Given the description of an element on the screen output the (x, y) to click on. 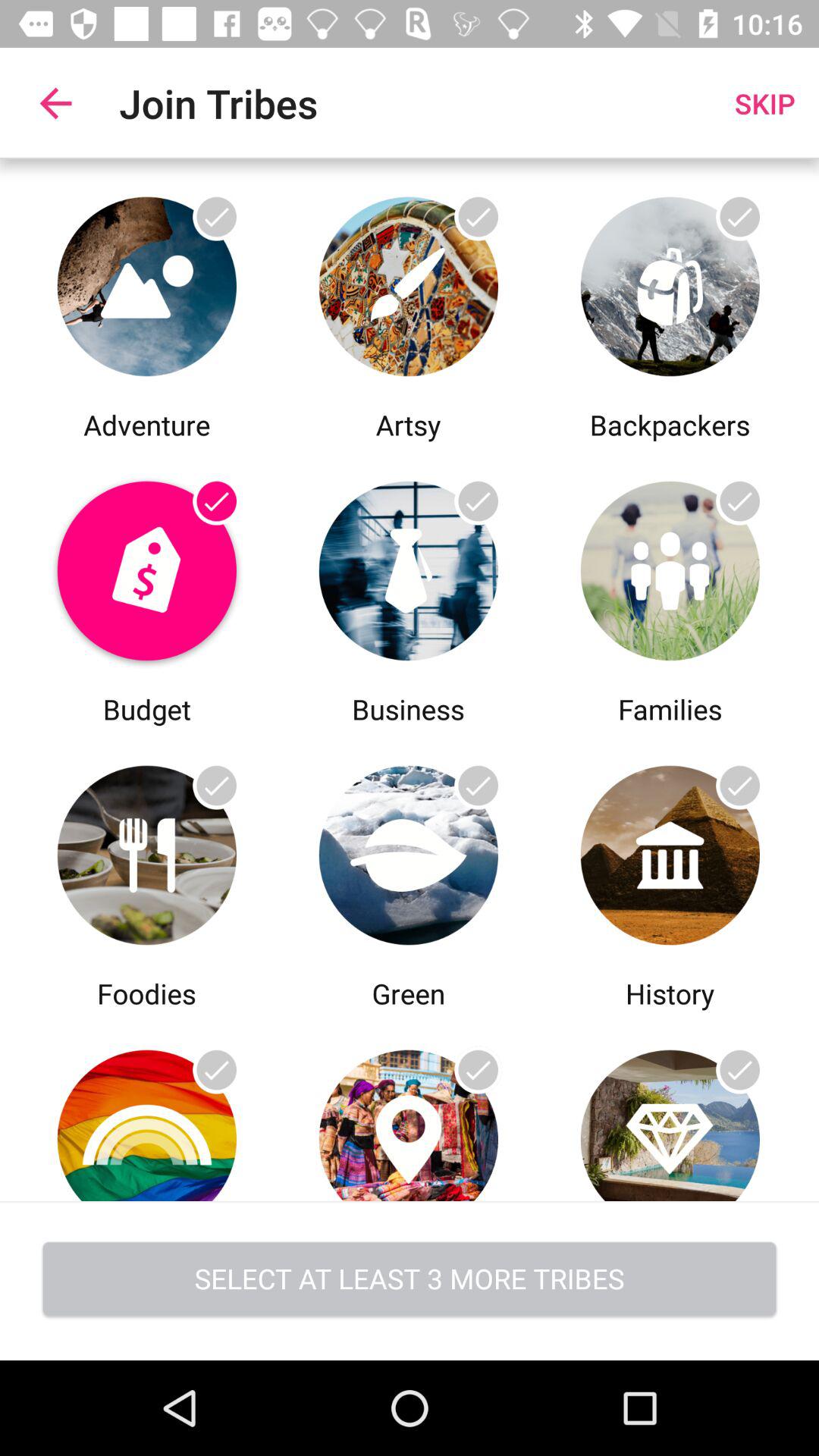
select history trib (669, 851)
